Given the description of an element on the screen output the (x, y) to click on. 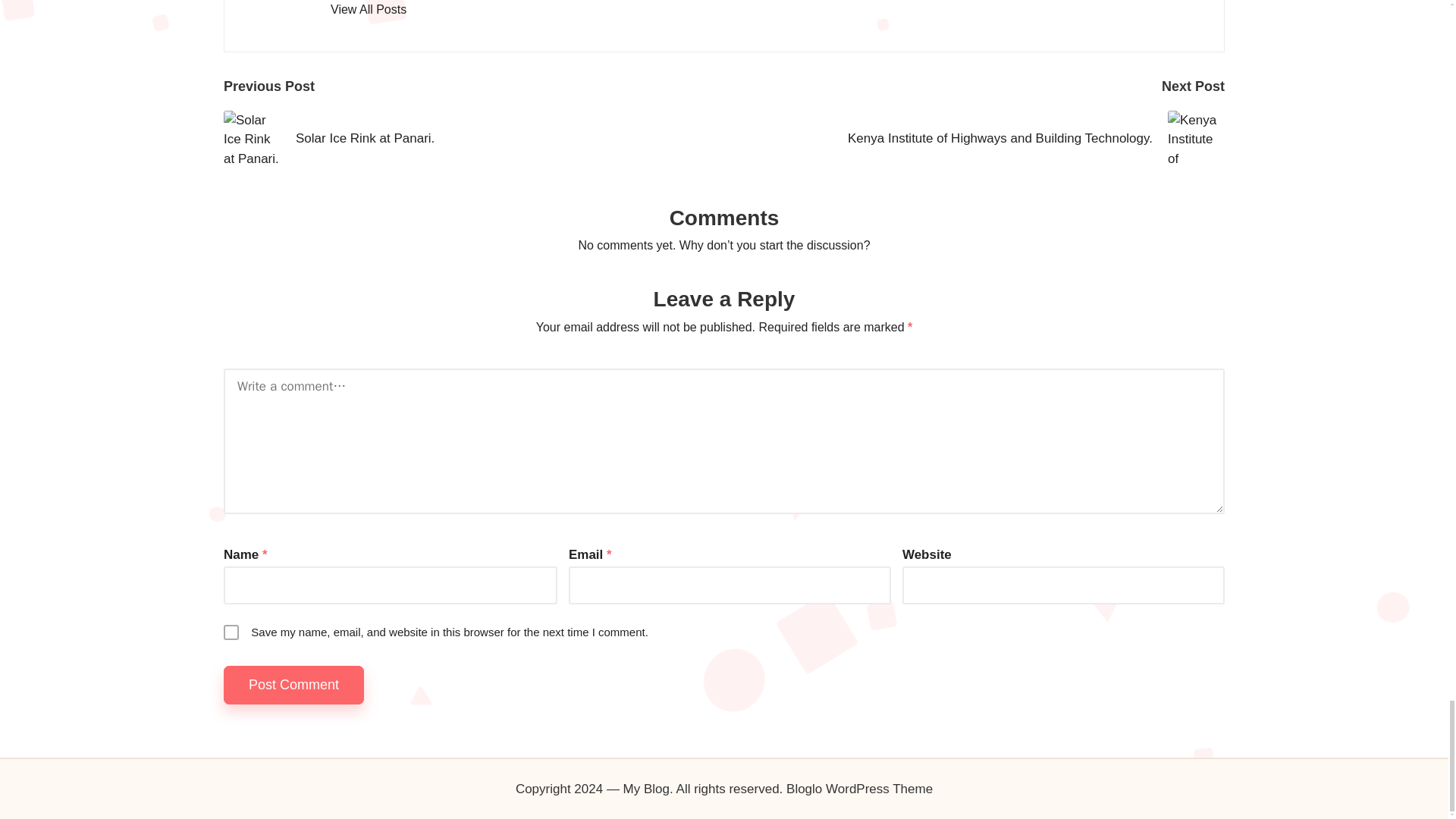
Post Comment (294, 684)
Bloglo WordPress Theme (859, 789)
Solar Ice Rink at Panari. (473, 138)
yes (231, 631)
Post Comment (294, 684)
Kenya Institute of Highways and Building Technology. (973, 138)
View All Posts (368, 9)
